Given the description of an element on the screen output the (x, y) to click on. 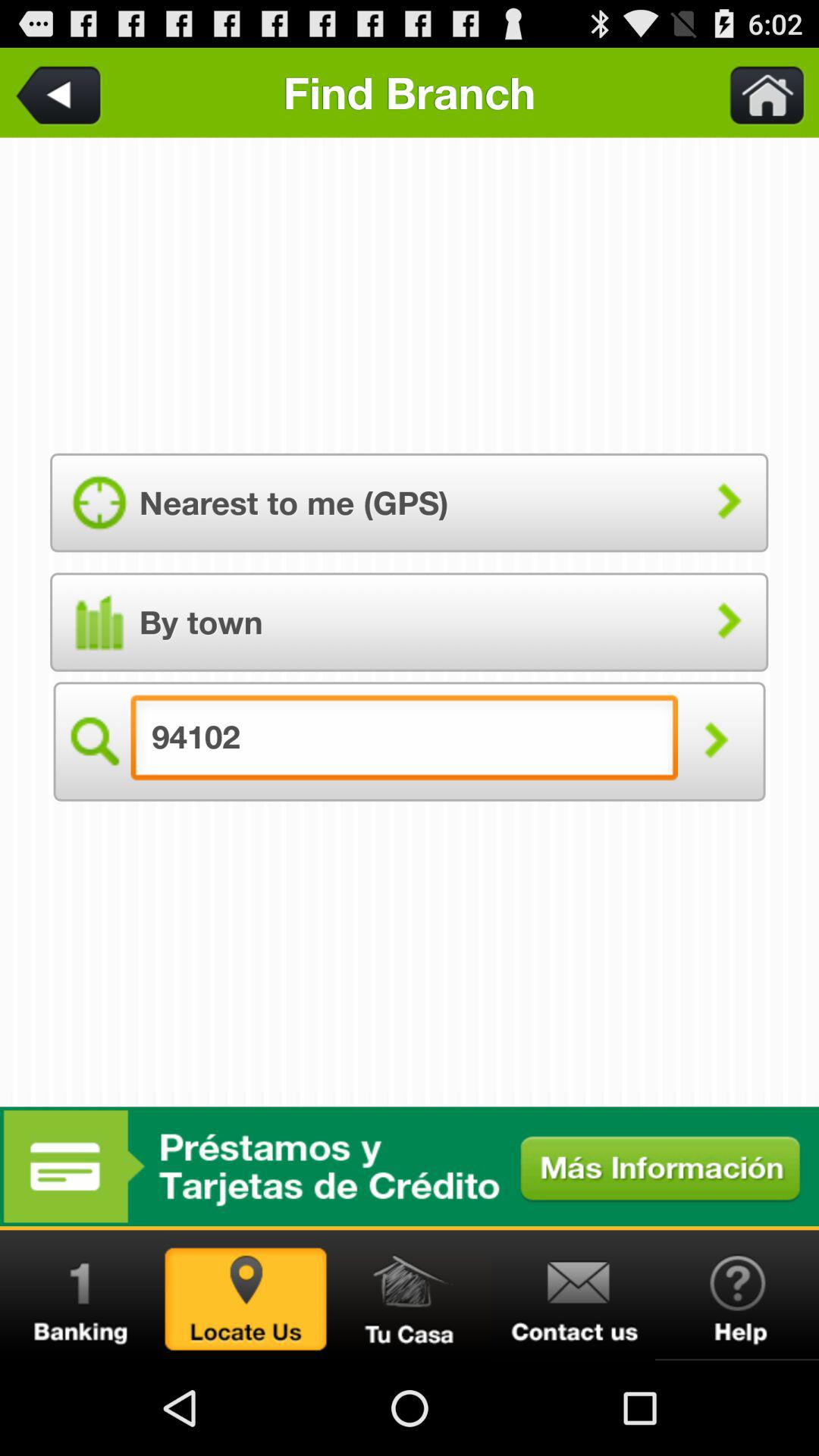
home info page toggle (409, 1295)
